Given the description of an element on the screen output the (x, y) to click on. 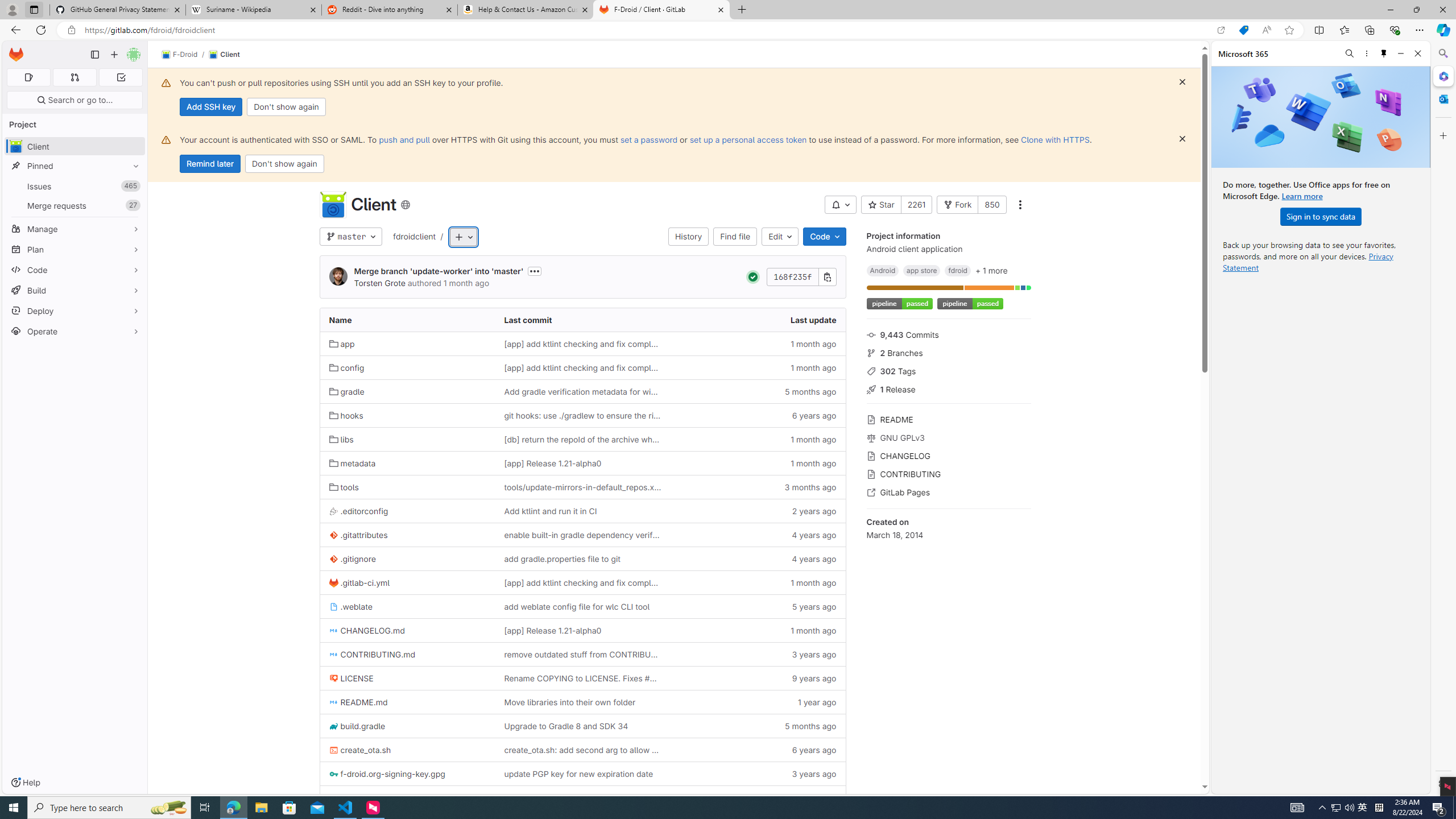
Open in app (1220, 29)
CONTRIBUTING.md (372, 654)
remove outdated stuff from CONTRIBUTING.md (582, 654)
GitLab Pages (948, 491)
5 months ago (757, 725)
master (349, 236)
1 month ago (757, 630)
CONTRIBUTING (948, 473)
.editorconfig (407, 510)
